Given the description of an element on the screen output the (x, y) to click on. 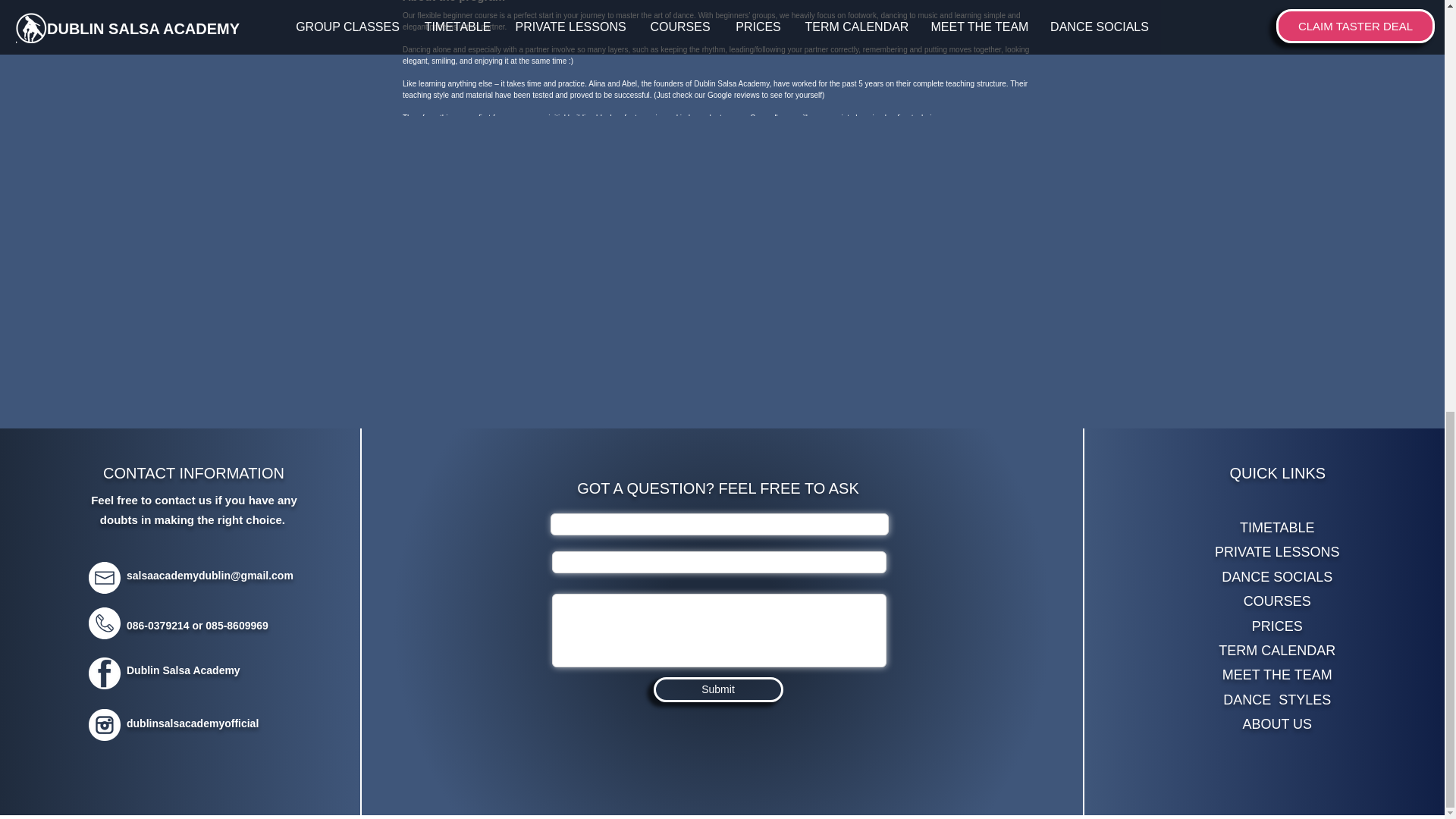
TERM CALENDAR (1276, 650)
ABOUT US (1276, 724)
MEET THE TEAM (1277, 674)
TIMETABLE (1277, 527)
Submit (718, 689)
PRIVATE LESSONS (1276, 551)
COURSES (1277, 601)
DANCE SOCIALS (1276, 576)
PRICES (1277, 626)
DANCE  STYLES (1276, 699)
